Given the description of an element on the screen output the (x, y) to click on. 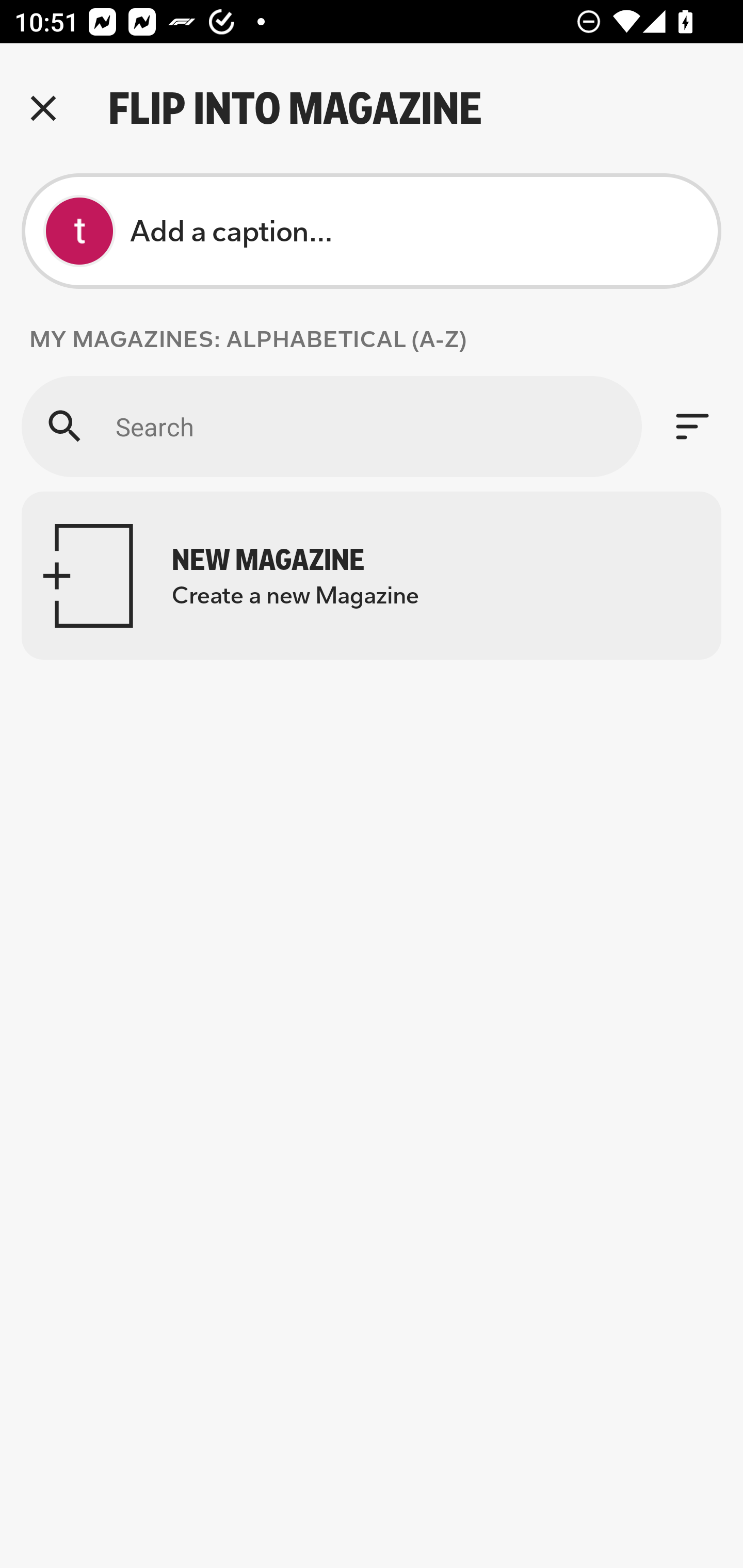
test appium Add a caption… (371, 231)
Search (331, 426)
NEW MAGAZINE Create a new Magazine (371, 575)
